Given the description of an element on the screen output the (x, y) to click on. 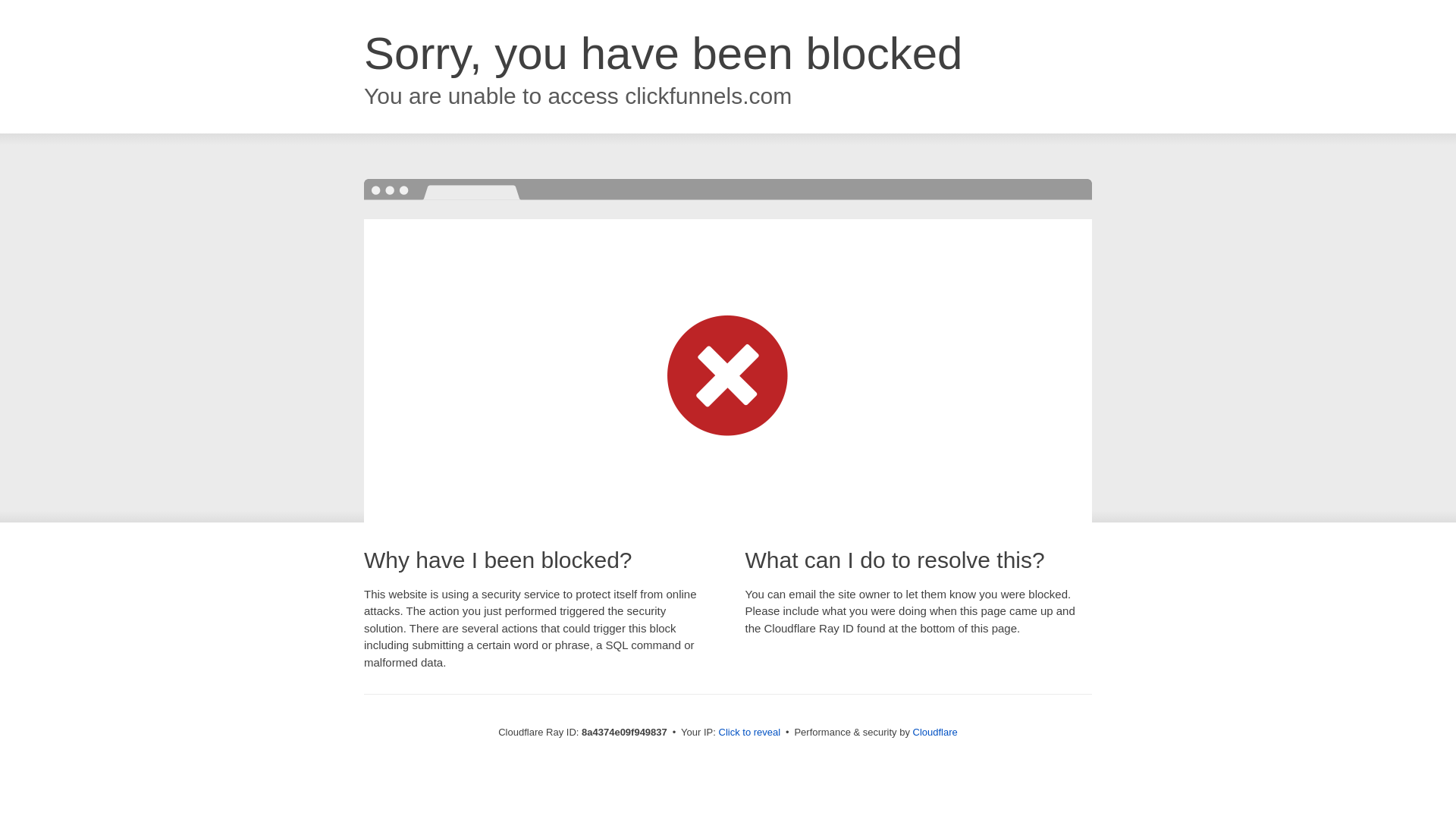
Click to reveal (749, 732)
Cloudflare (935, 731)
